Given the description of an element on the screen output the (x, y) to click on. 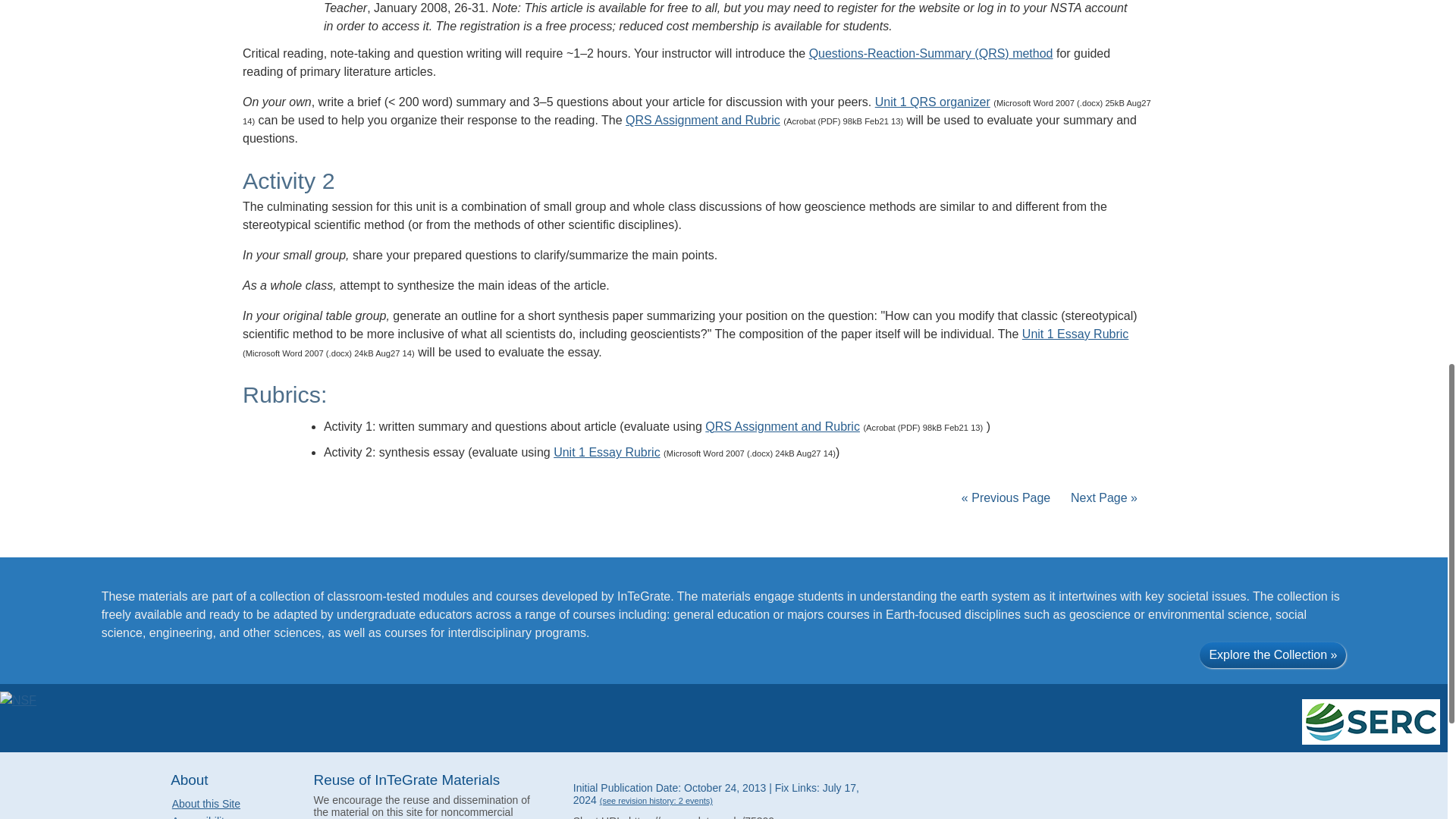
QRS Assignment and Rubric (782, 426)
Unit 1 Essay Rubric (607, 451)
Unit 1 Essay Rubric (1075, 333)
QRS Assignment and Rubric (703, 119)
Unit 1 QRS organizer (932, 101)
